Given the description of an element on the screen output the (x, y) to click on. 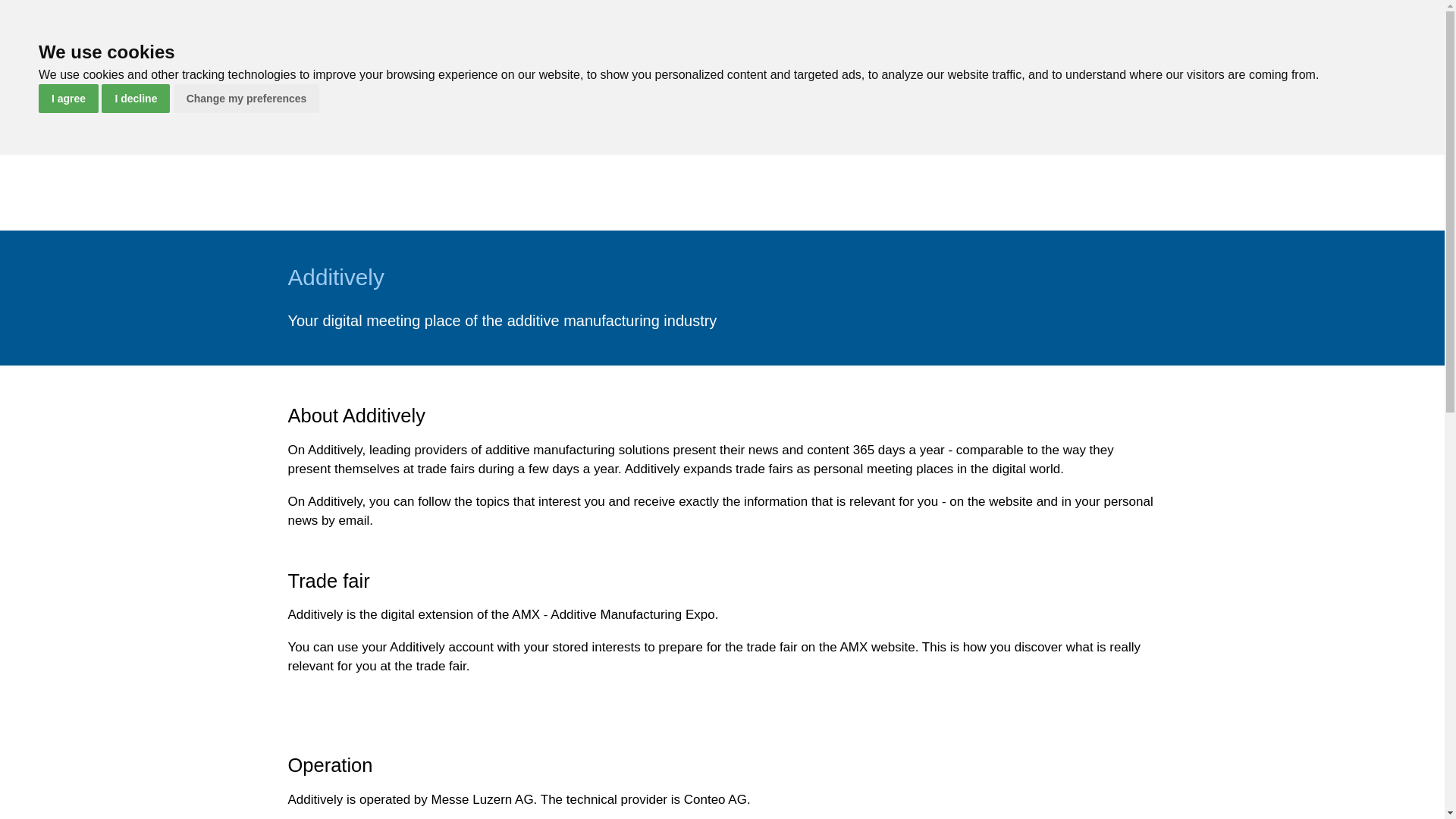
For exhibitors (841, 37)
I agree (69, 98)
Become an exhibitor now (1299, 36)
For the media (953, 37)
AM EXPO 365 (728, 37)
I decline (135, 98)
ABOUT THE TRADE FAIR (491, 37)
EXPLORE (627, 37)
Change my preferences (246, 98)
